Given the description of an element on the screen output the (x, y) to click on. 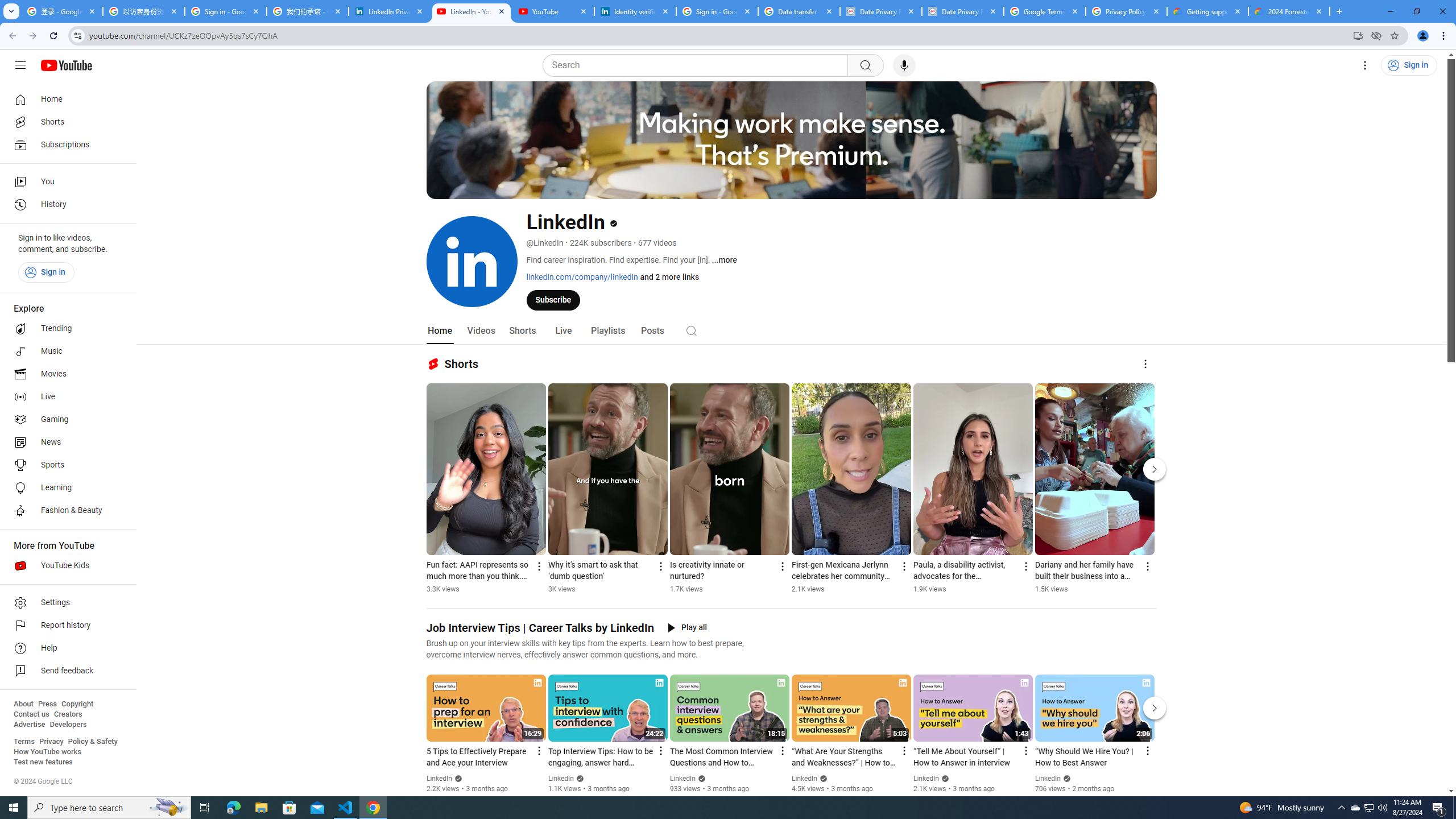
Developers (68, 724)
Terms (23, 741)
Shorts (521, 330)
Subscriptions (64, 144)
Privacy (51, 741)
Videos (481, 330)
Shorts (64, 121)
Forward (32, 35)
Music (64, 350)
You (1422, 35)
Sports (64, 464)
